Given the description of an element on the screen output the (x, y) to click on. 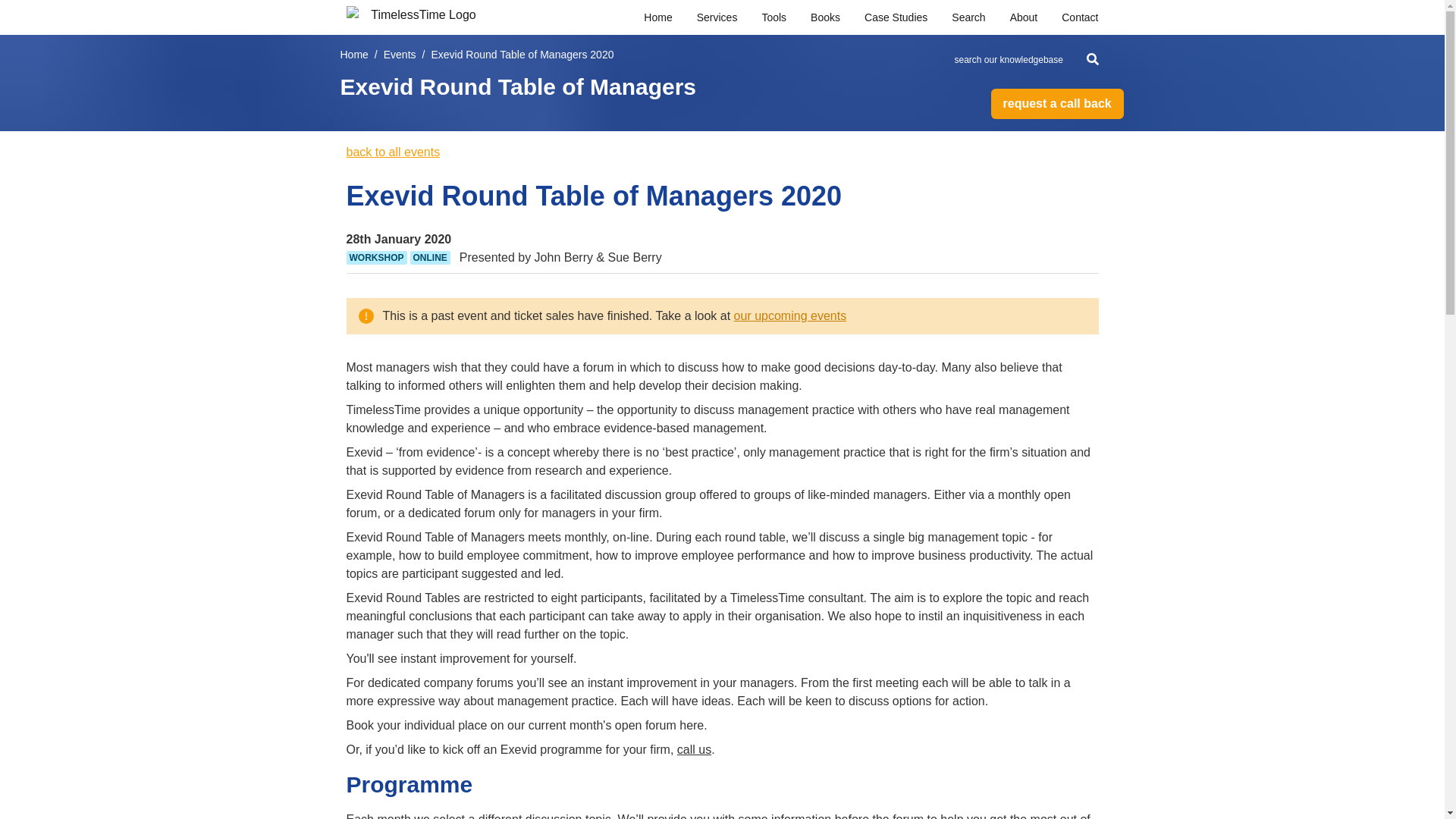
Case Studies (895, 17)
our upcoming events (790, 315)
Books (825, 17)
back to all events (392, 151)
About (1024, 17)
Contact (1079, 17)
Services (717, 17)
Search (968, 17)
Tools (773, 17)
Events (400, 54)
Home (657, 17)
call us (694, 748)
Home (353, 54)
request a call back (1056, 103)
Exevid Round Table of Managers 2020 (521, 54)
